Given the description of an element on the screen output the (x, y) to click on. 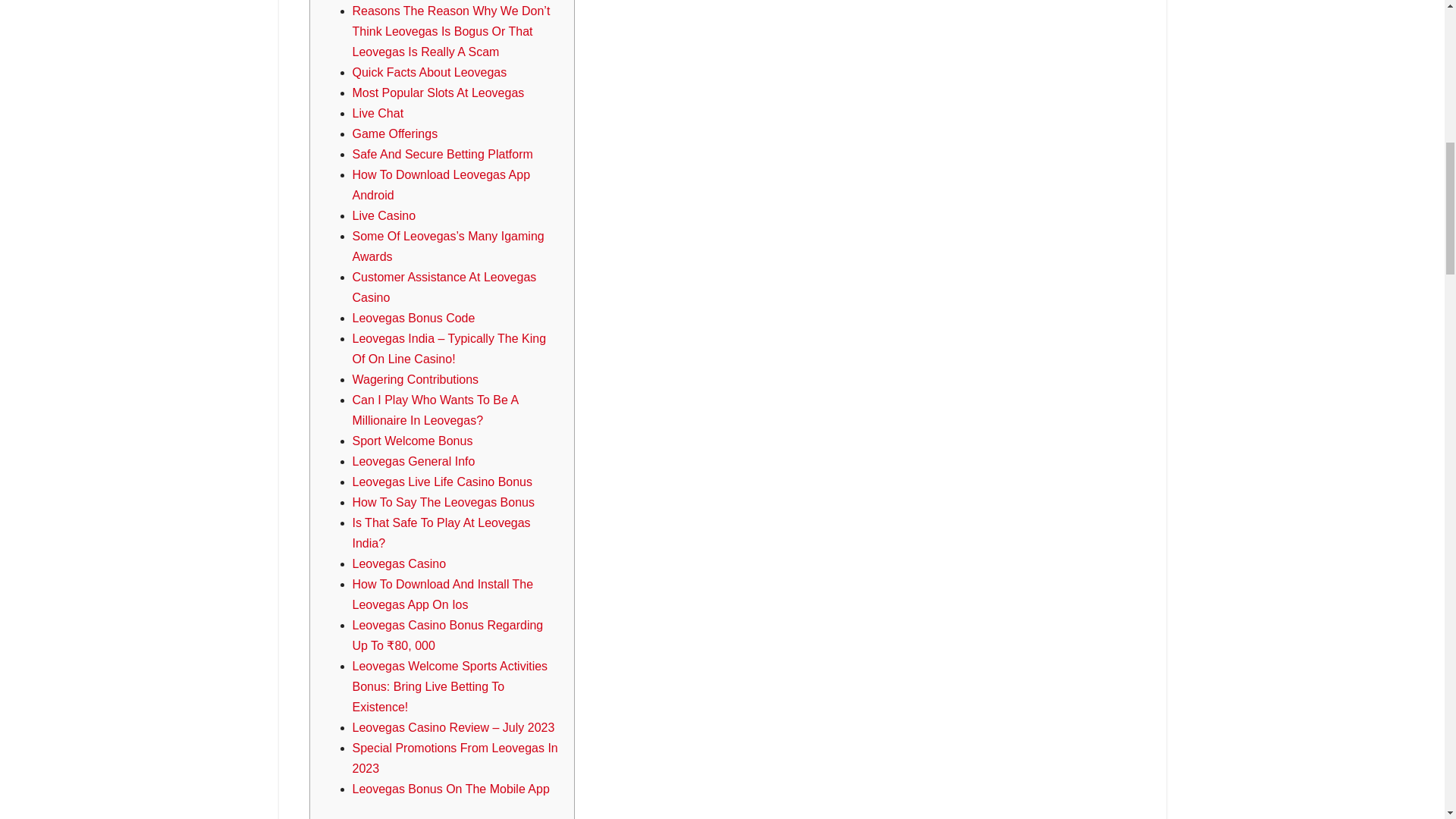
Customer Assistance At Leovegas Casino (443, 287)
Can I Play Who Wants To Be A Millionaire In Leovegas? (435, 409)
How To Download Leovegas App Android (440, 184)
Wagering Contributions (415, 379)
Game Offerings (395, 133)
Leovegas Live Life Casino Bonus (442, 481)
Sport Welcome Bonus (411, 440)
Leovegas General Info (413, 461)
Leovegas Bonus Code (413, 318)
Live Chat (377, 113)
How To Say The Leovegas Bonus (443, 502)
Most Popular Slots At Leovegas (438, 92)
Live Casino (383, 215)
Safe And Secure Betting Platform (442, 154)
Quick Facts About Leovegas (429, 72)
